Given the description of an element on the screen output the (x, y) to click on. 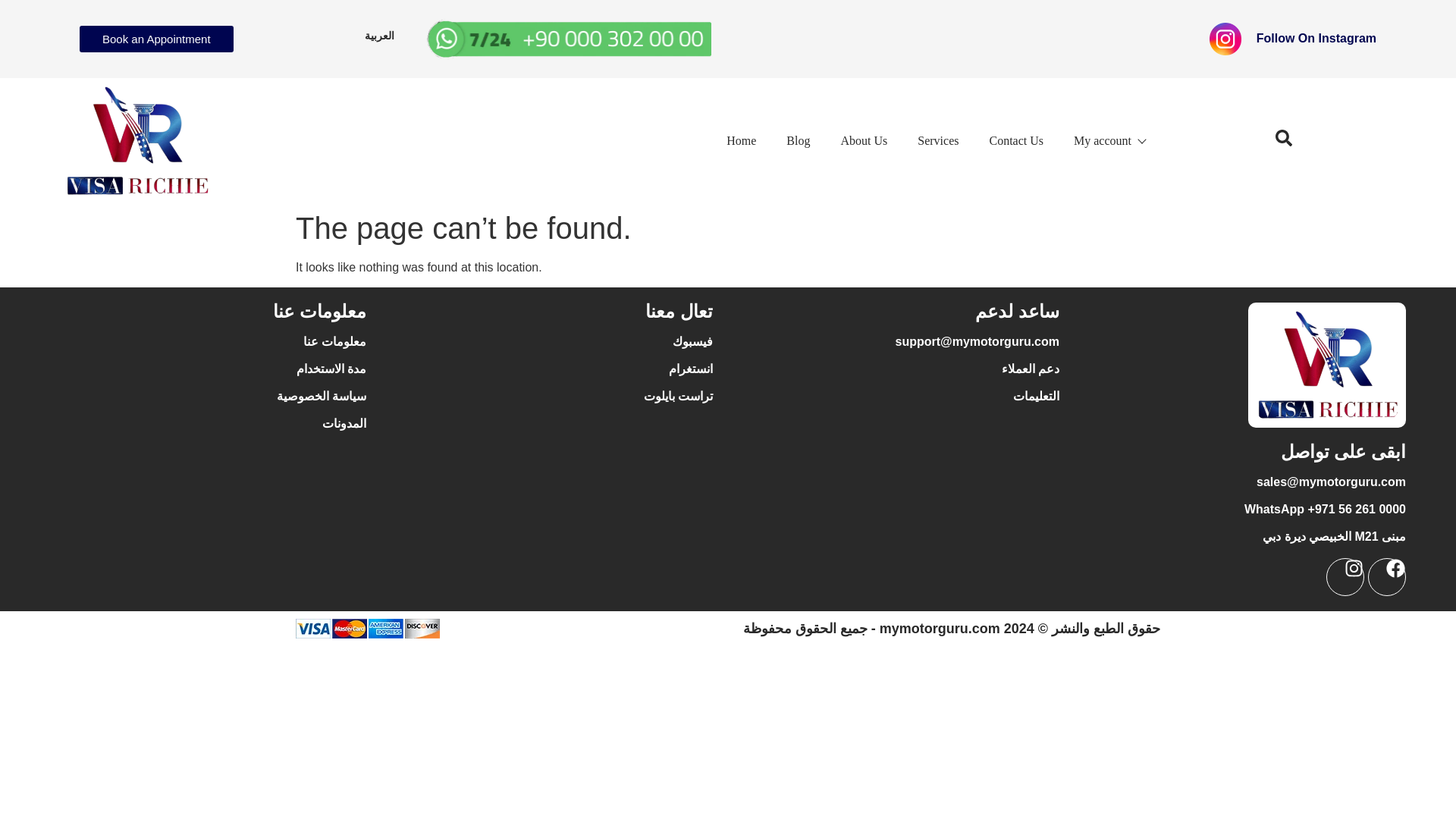
Contact Us (1016, 140)
About Us (863, 140)
Services (938, 140)
Book an Appointment (156, 38)
Home (740, 140)
My account (1109, 140)
Blog (797, 140)
